Given the description of an element on the screen output the (x, y) to click on. 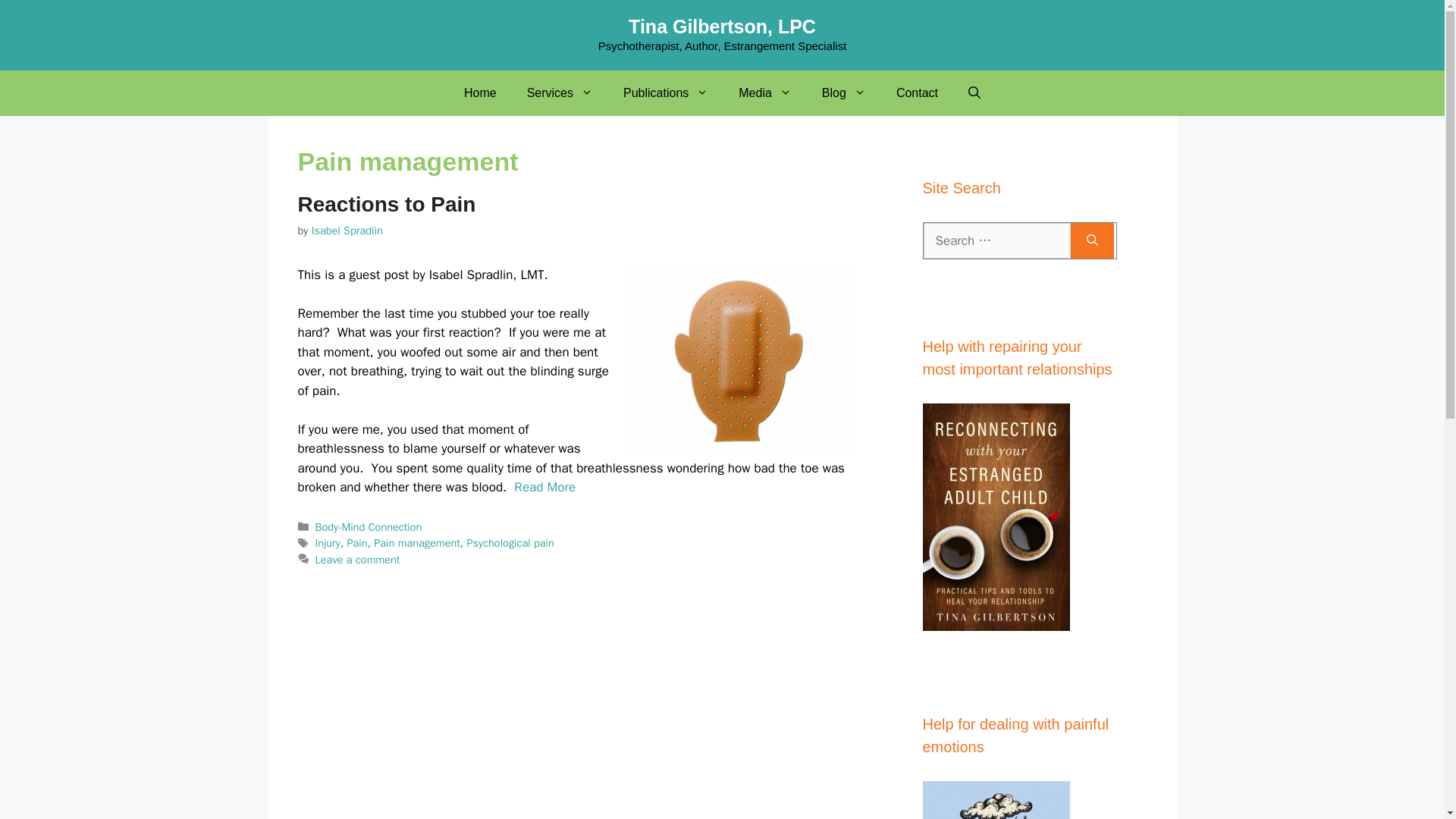
Reactions to pain (739, 359)
Injury (327, 542)
View all posts by Isabel Spradlin (346, 230)
Isabel Spradlin (346, 230)
Publications (665, 92)
Home (480, 92)
Search for: (996, 240)
Media (764, 92)
Services (560, 92)
Pain (356, 542)
Contact (916, 92)
Leave a comment (357, 559)
Read More (544, 487)
Psychological pain (510, 542)
Body-Mind Connection (368, 526)
